Given the description of an element on the screen output the (x, y) to click on. 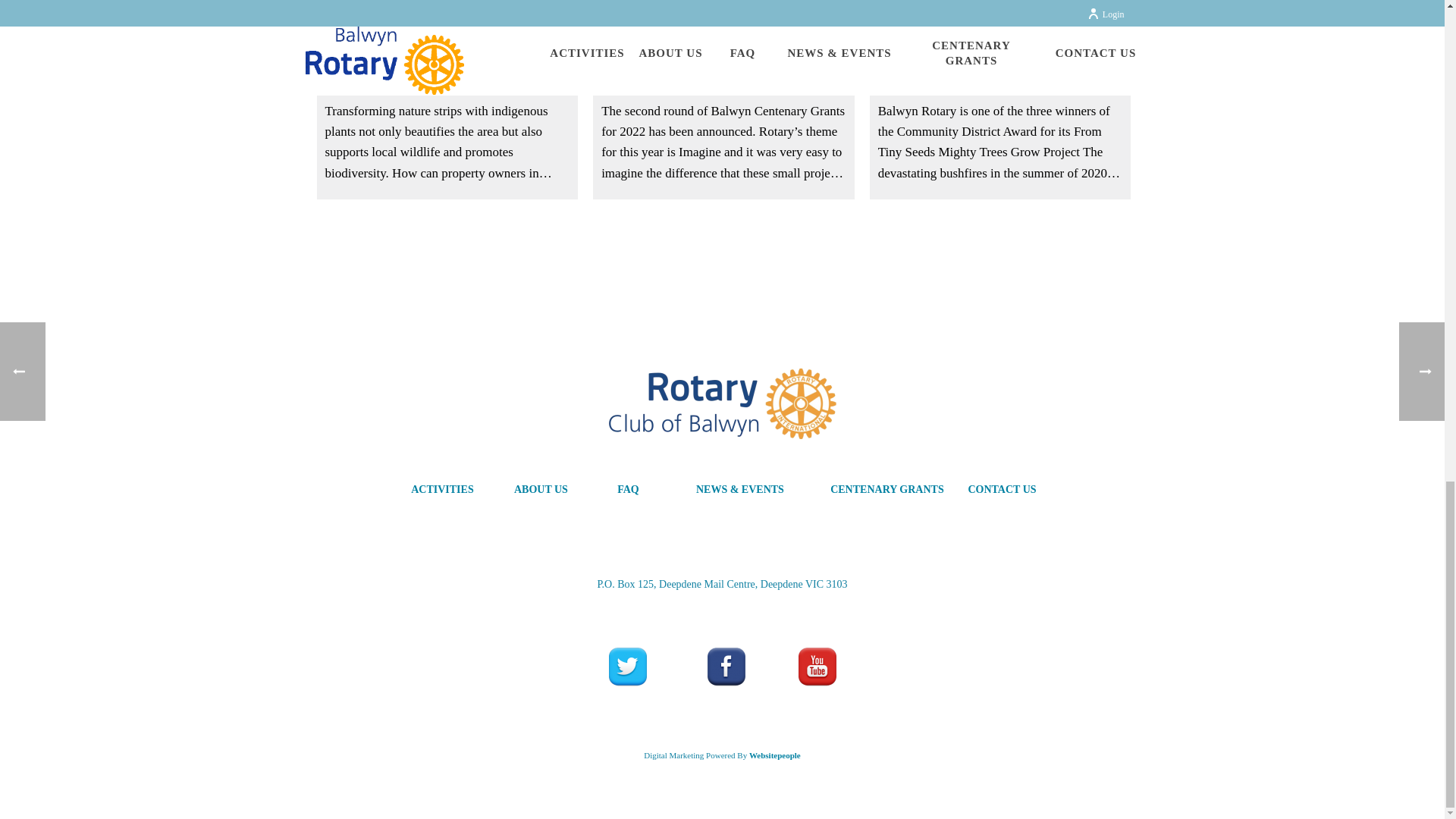
Grants Awarded September 2022 (723, 50)
Community Service Award (1000, 50)
Transforming Nature Strips in Boroondara (446, 18)
ACTIVITIES (445, 489)
CENTENARY GRANTS (889, 489)
Transforming Nature Strips In Boroondara (446, 50)
CONTACT US (1004, 489)
Community Service Award (1000, 18)
ABOUT US (544, 489)
Grants Awarded September 2022 (723, 18)
